Given the description of an element on the screen output the (x, y) to click on. 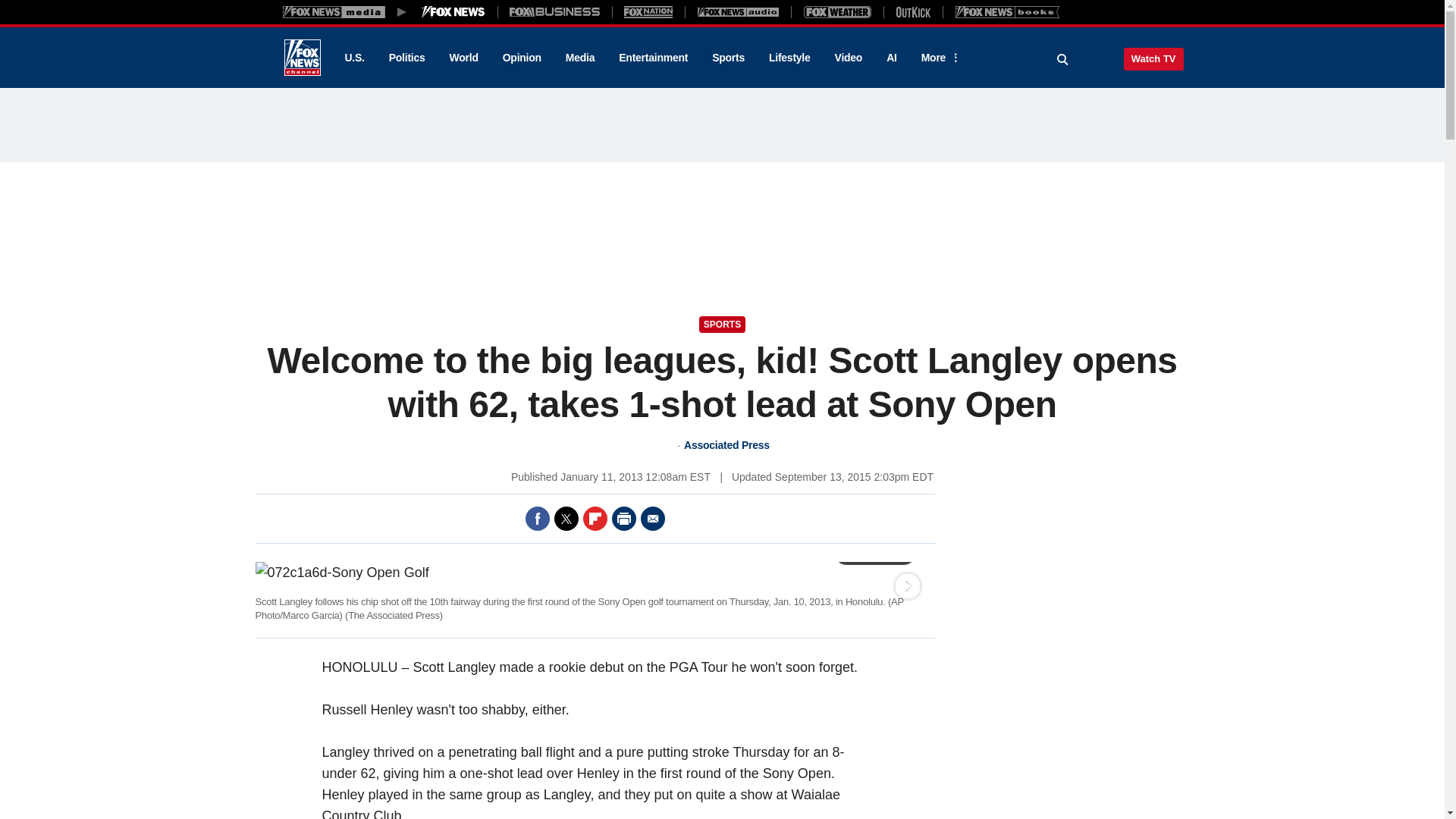
Media (580, 57)
AI (891, 57)
World (464, 57)
Video (848, 57)
Entertainment (653, 57)
Fox News (301, 57)
Politics (407, 57)
Fox Business (554, 11)
Sports (728, 57)
Fox News Media (453, 11)
